Given the description of an element on the screen output the (x, y) to click on. 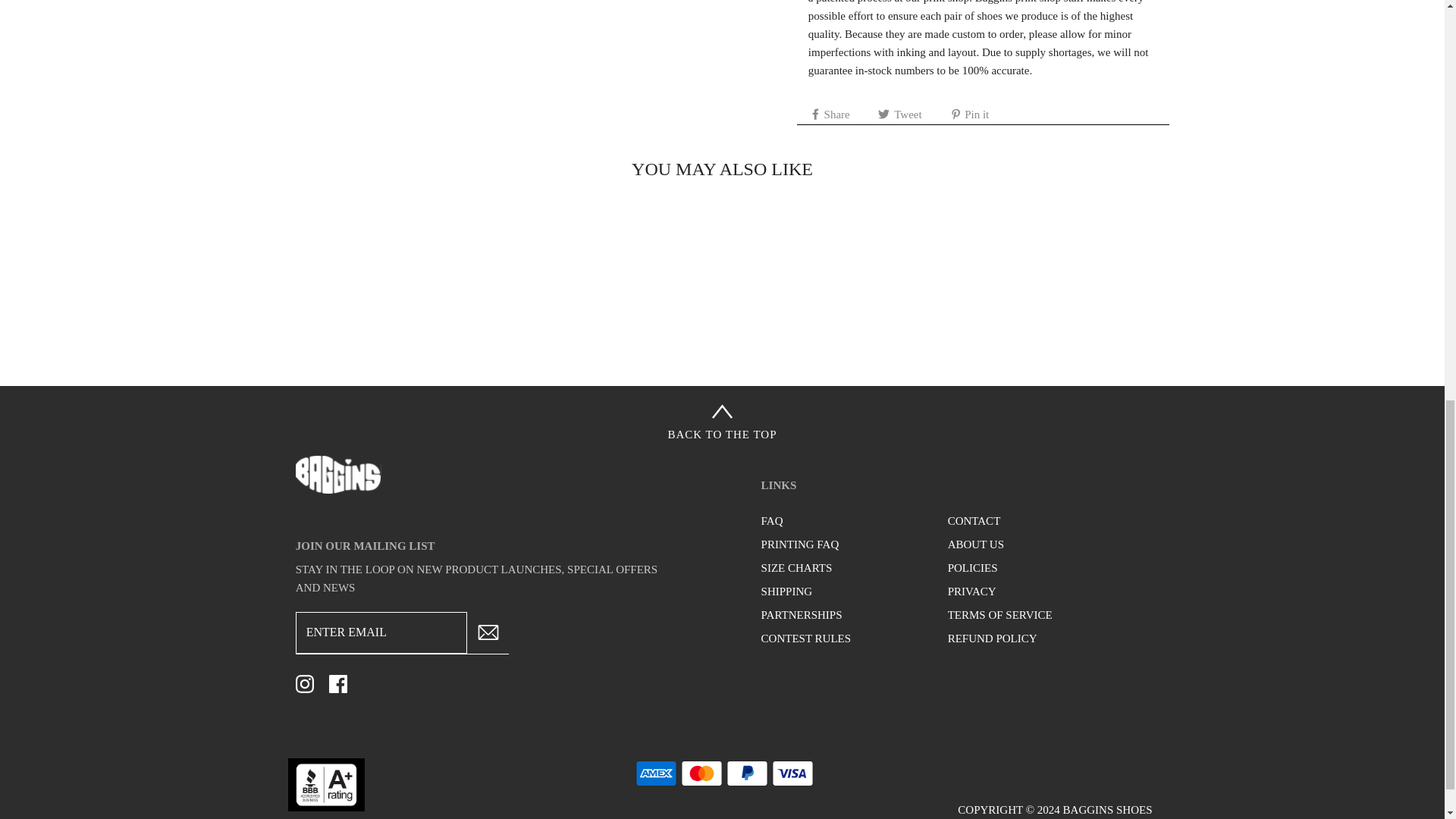
Visa (792, 773)
PayPal (747, 773)
FACEBOOK ICON (338, 683)
Mastercard (701, 773)
INSTAGRAM ICON (304, 683)
American Express (655, 773)
